Given the description of an element on the screen output the (x, y) to click on. 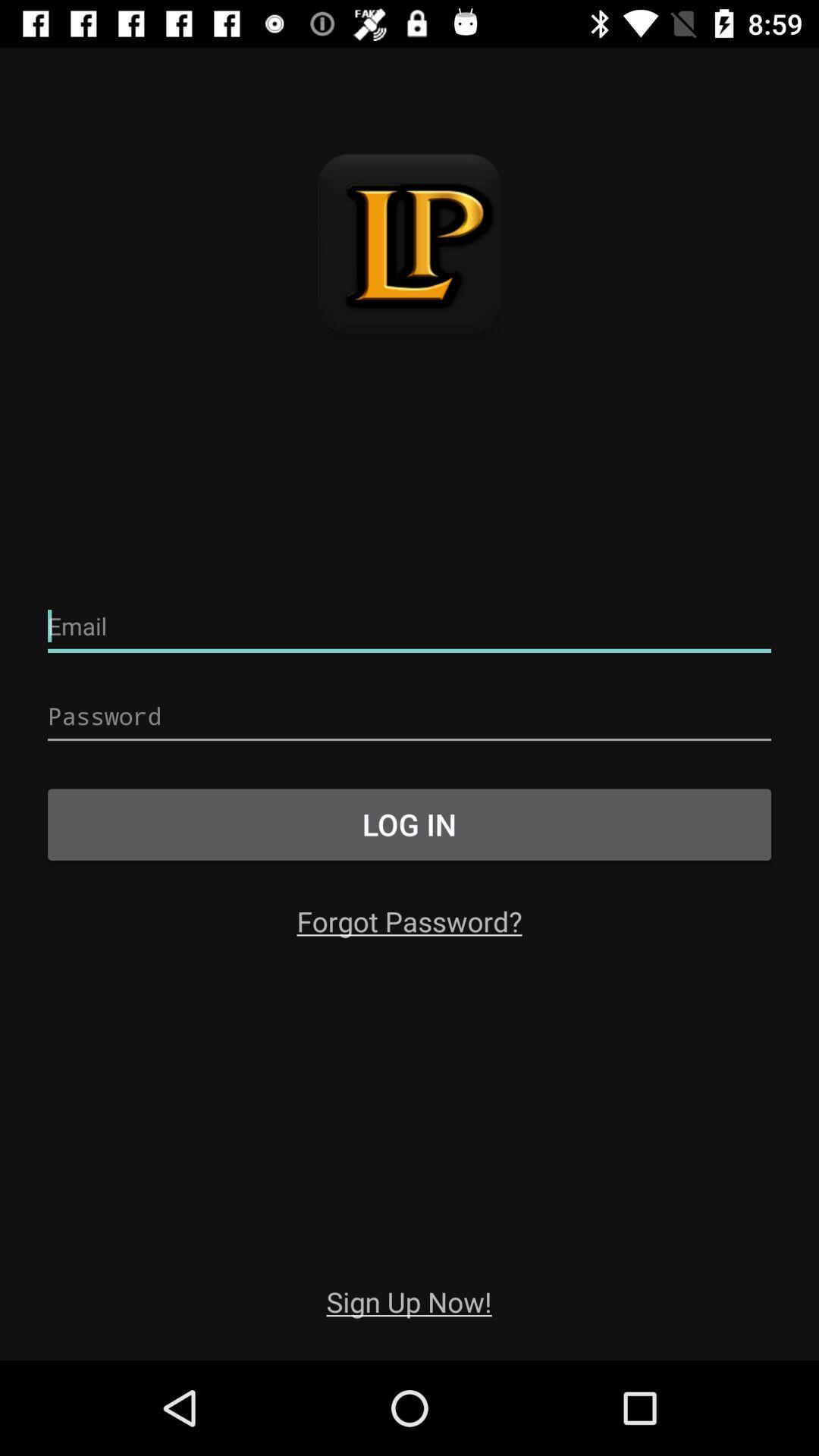
select the item below log in item (409, 921)
